Given the description of an element on the screen output the (x, y) to click on. 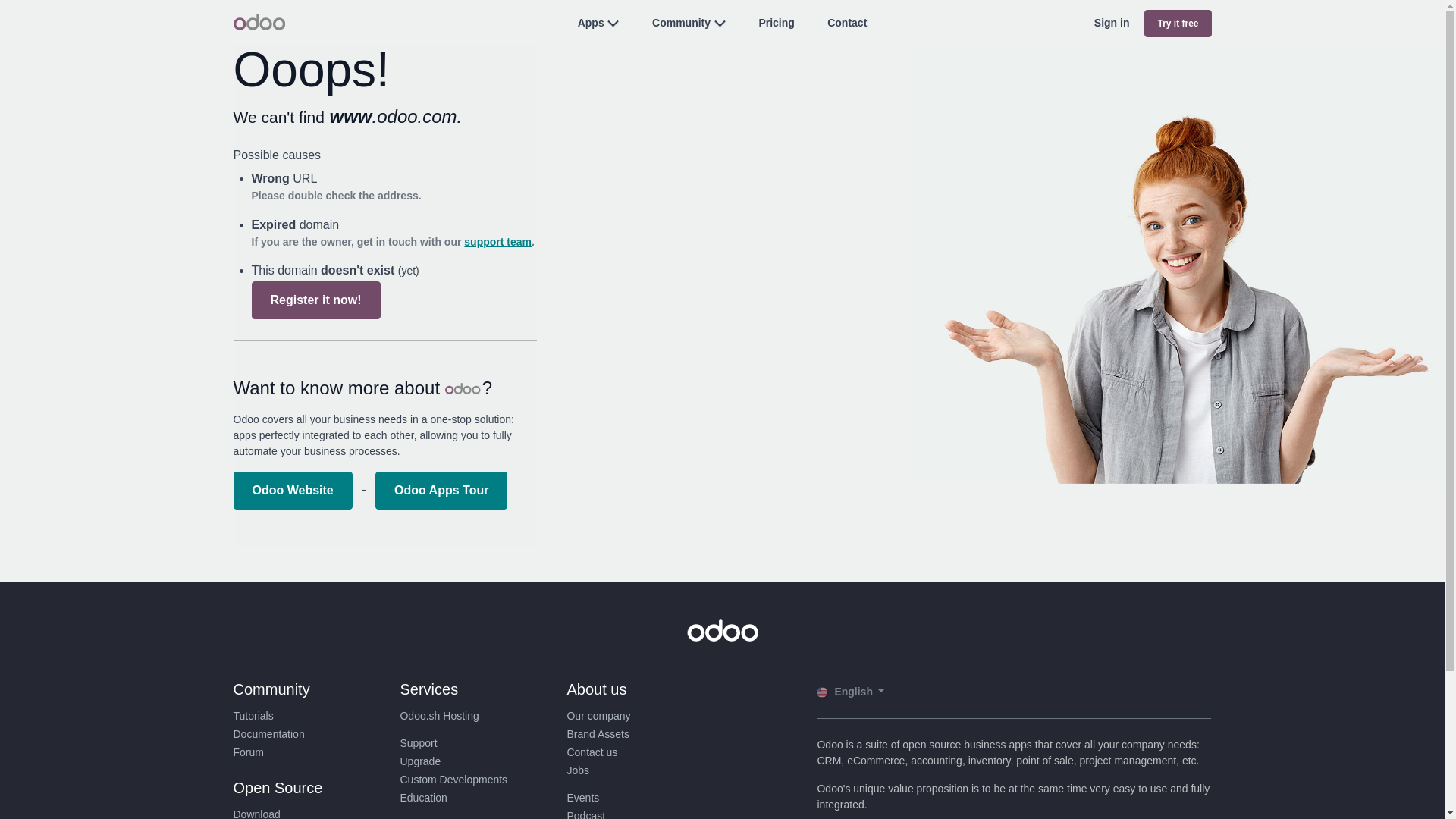
Sign in (1111, 22)
Try it free (1177, 22)
Odoo (258, 21)
Apps (591, 22)
